Given the description of an element on the screen output the (x, y) to click on. 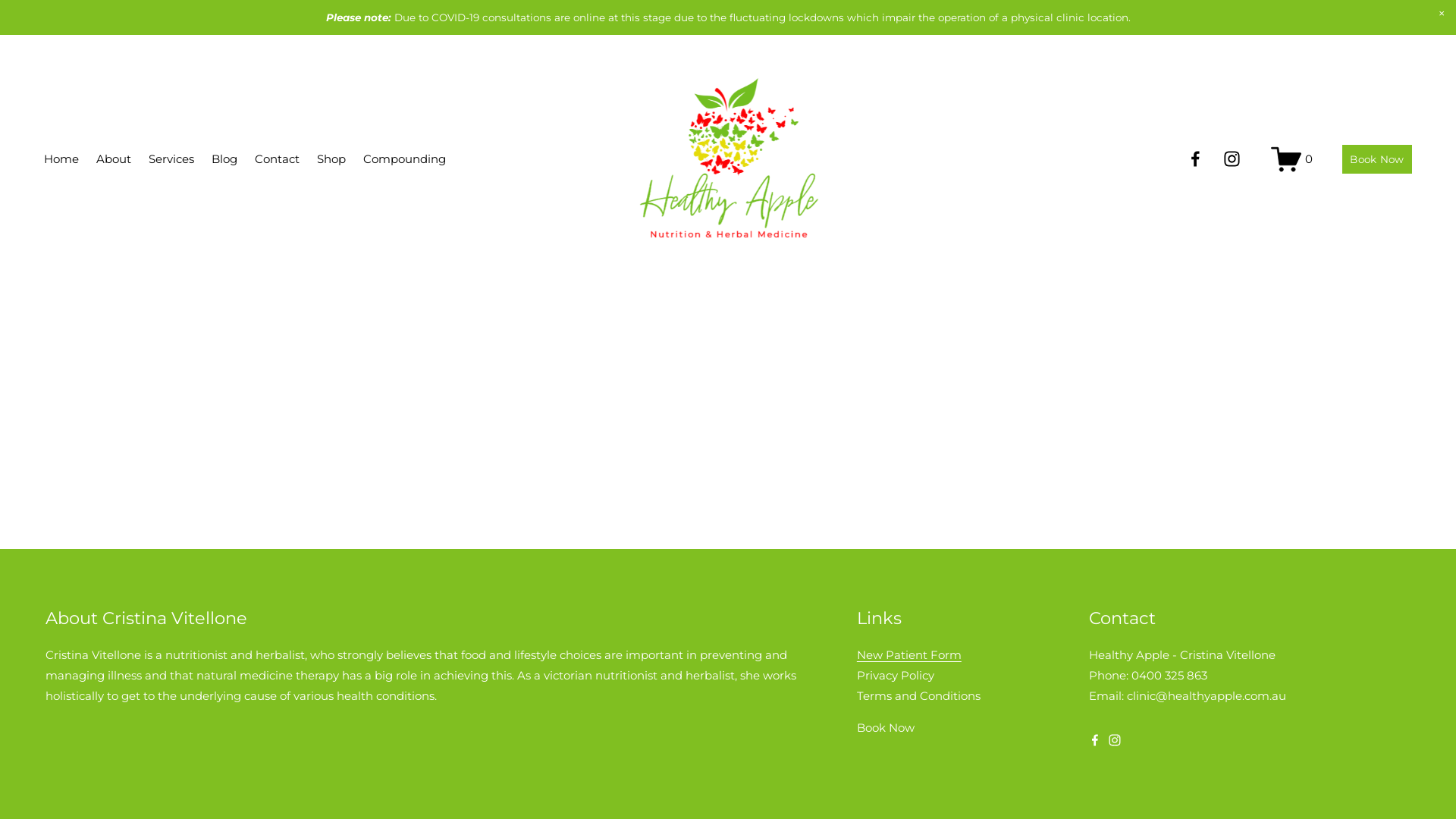
Book Now Element type: text (1377, 158)
Shop Element type: text (330, 158)
Services Element type: text (171, 158)
clicking here Element type: text (286, 192)
Contact Element type: text (276, 158)
Compounding Element type: text (404, 158)
Home Element type: text (60, 158)
clicking here Element type: text (697, 192)
0 Element type: text (1291, 159)
About Element type: text (113, 158)
Blog Element type: text (224, 158)
New Patient Form Element type: text (908, 654)
